Given the description of an element on the screen output the (x, y) to click on. 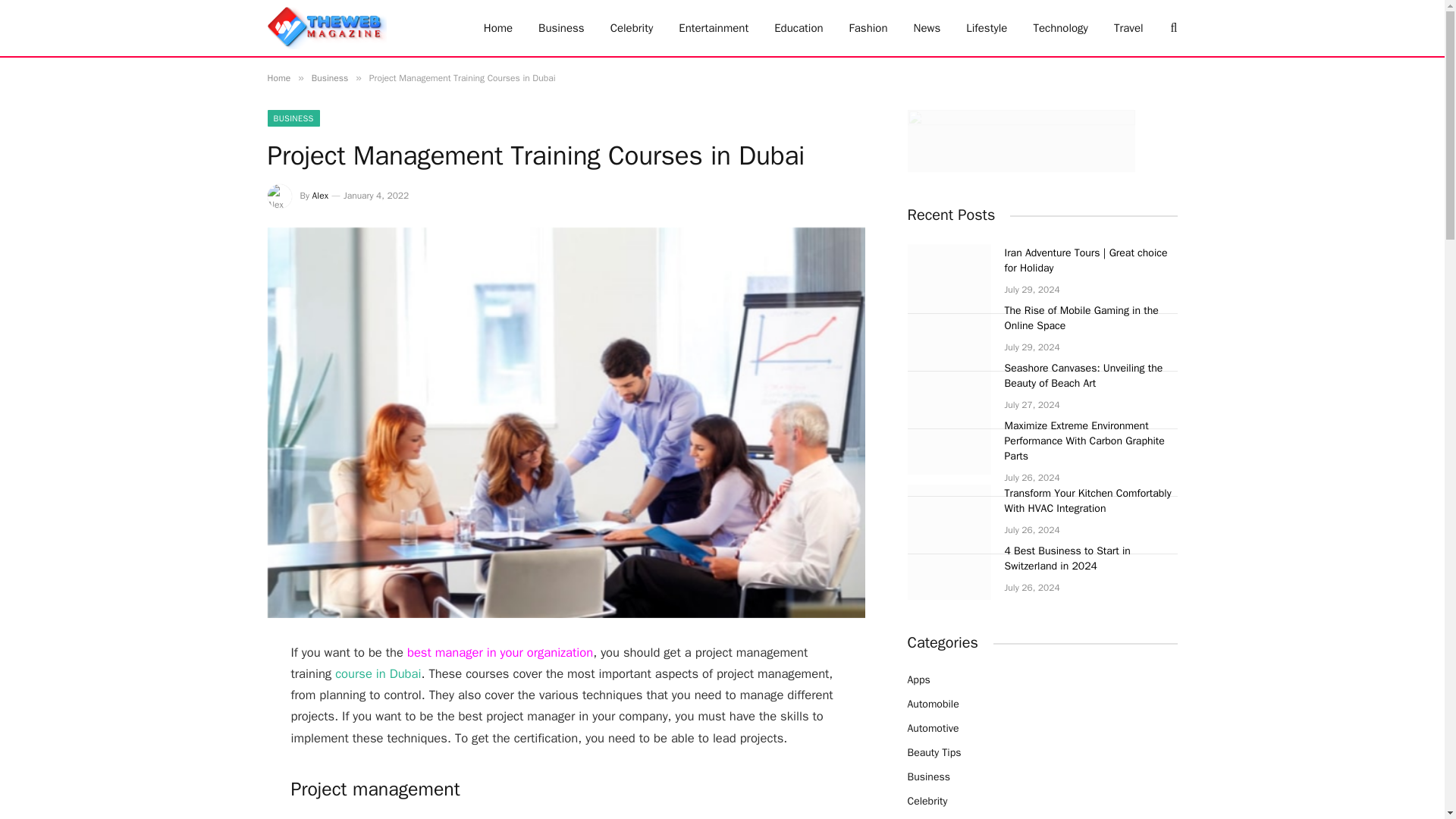
best manager in your organization (499, 652)
Fashion (868, 28)
Home (497, 28)
Business (560, 28)
Celebrity (631, 28)
Technology (1060, 28)
Education (798, 28)
Alex (321, 195)
Posts by Alex (321, 195)
News (927, 28)
Travel (1128, 28)
course in Dubai (377, 673)
The Web Magazine (325, 28)
Lifestyle (986, 28)
